Given the description of an element on the screen output the (x, y) to click on. 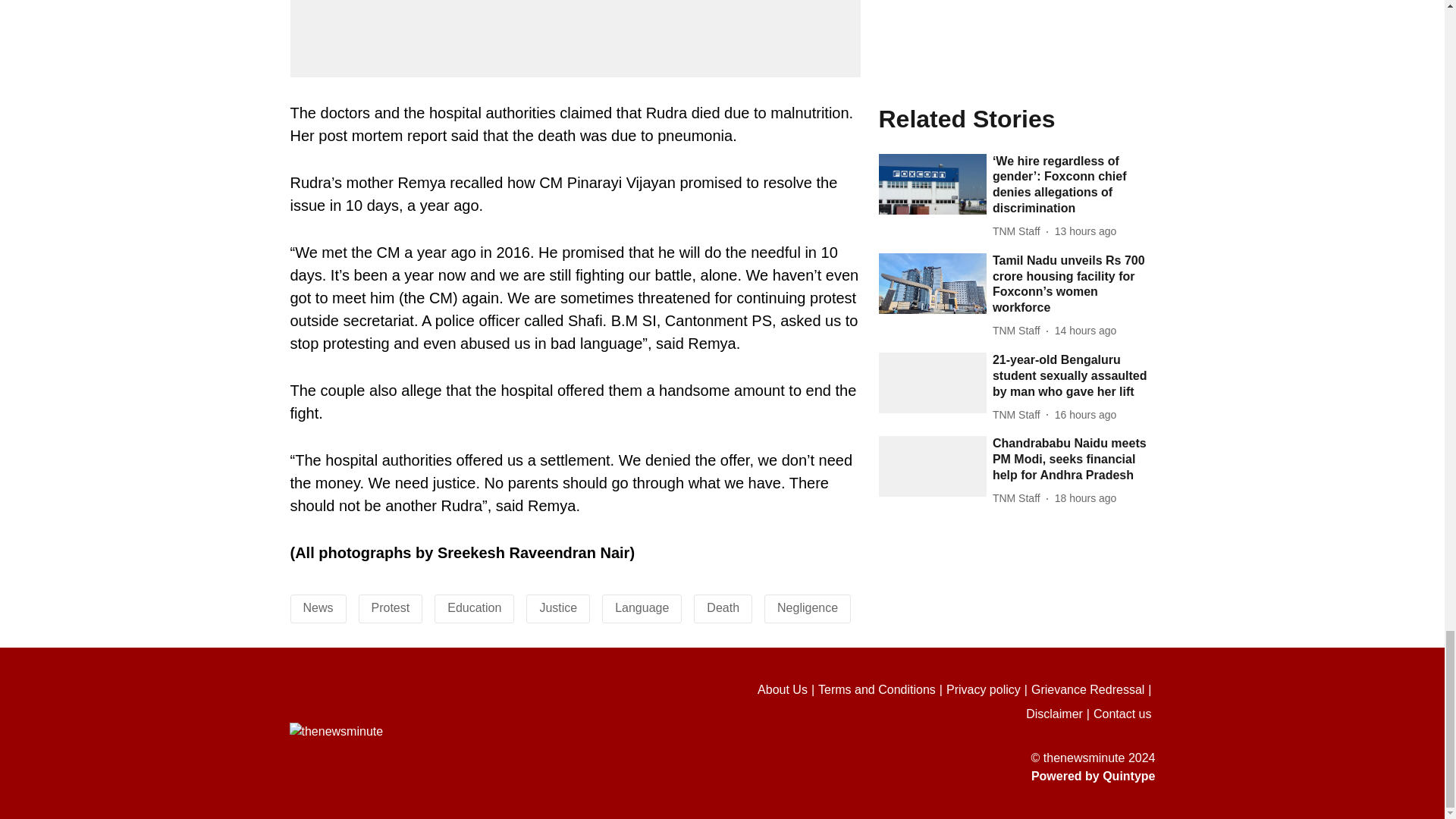
Negligence (807, 607)
Death (722, 607)
Education (473, 607)
Protest (390, 607)
Language (641, 607)
News (317, 607)
Justice (557, 607)
